Given the description of an element on the screen output the (x, y) to click on. 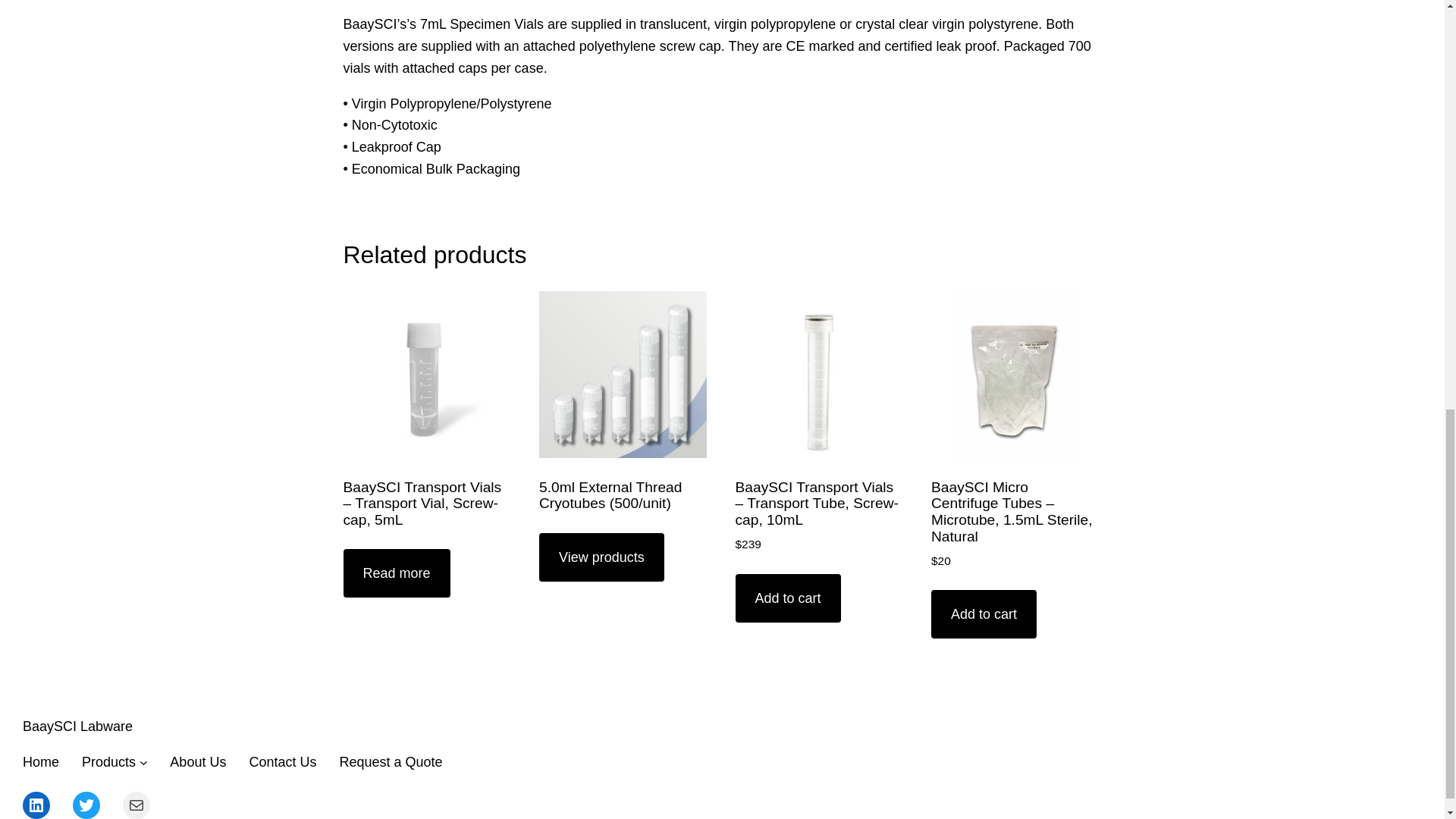
Home (41, 762)
About Us (197, 762)
Add to cart (983, 613)
Read more (395, 572)
Products (108, 762)
View products (600, 557)
Add to cart (788, 598)
